Given the description of an element on the screen output the (x, y) to click on. 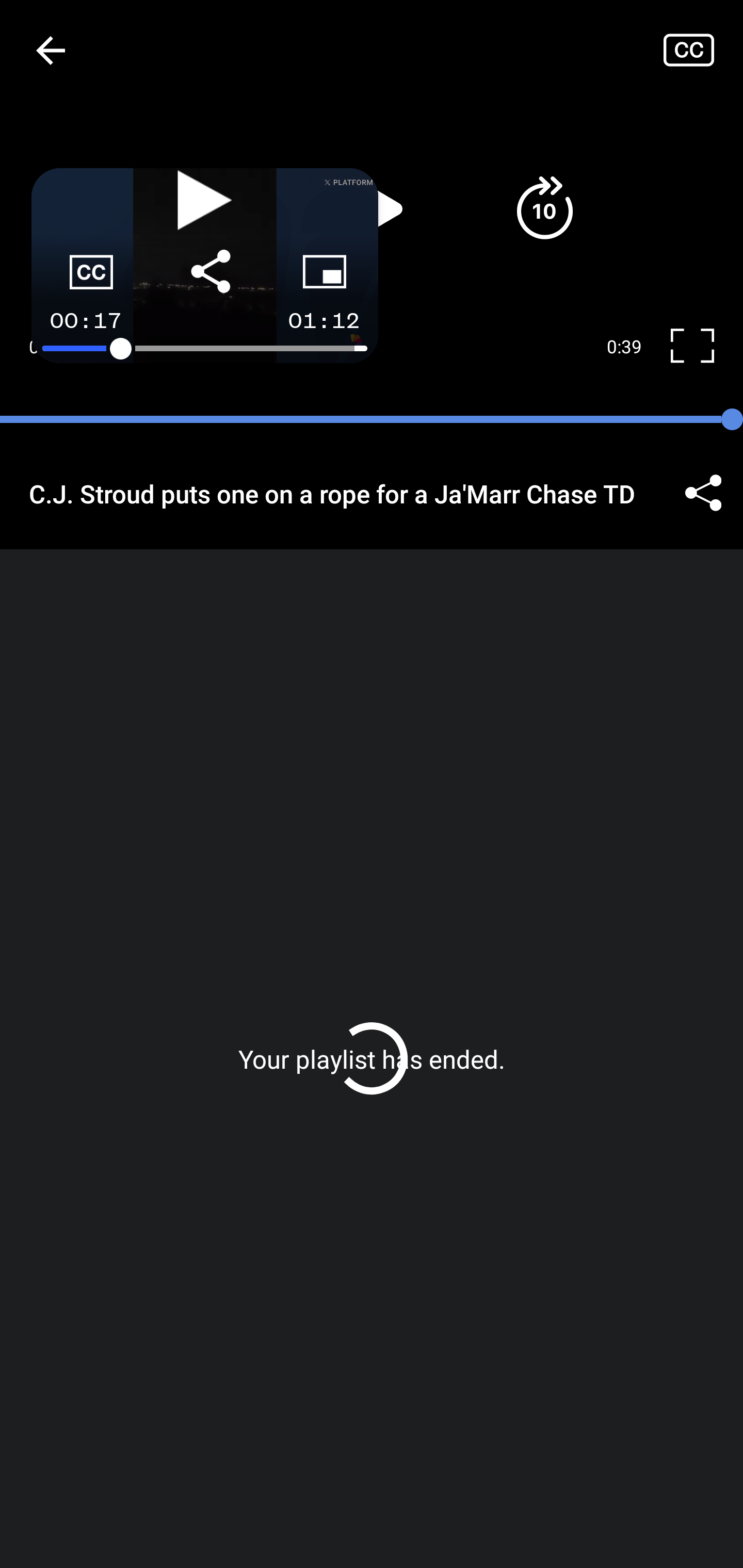
Navigate up (50, 50)
Closed captions  (703, 49)
Rewind 10 seconds  (197, 208)
Fast forward 10 seconds  (544, 208)
Fullscreen  (699, 346)
Share © (703, 493)
